Given the description of an element on the screen output the (x, y) to click on. 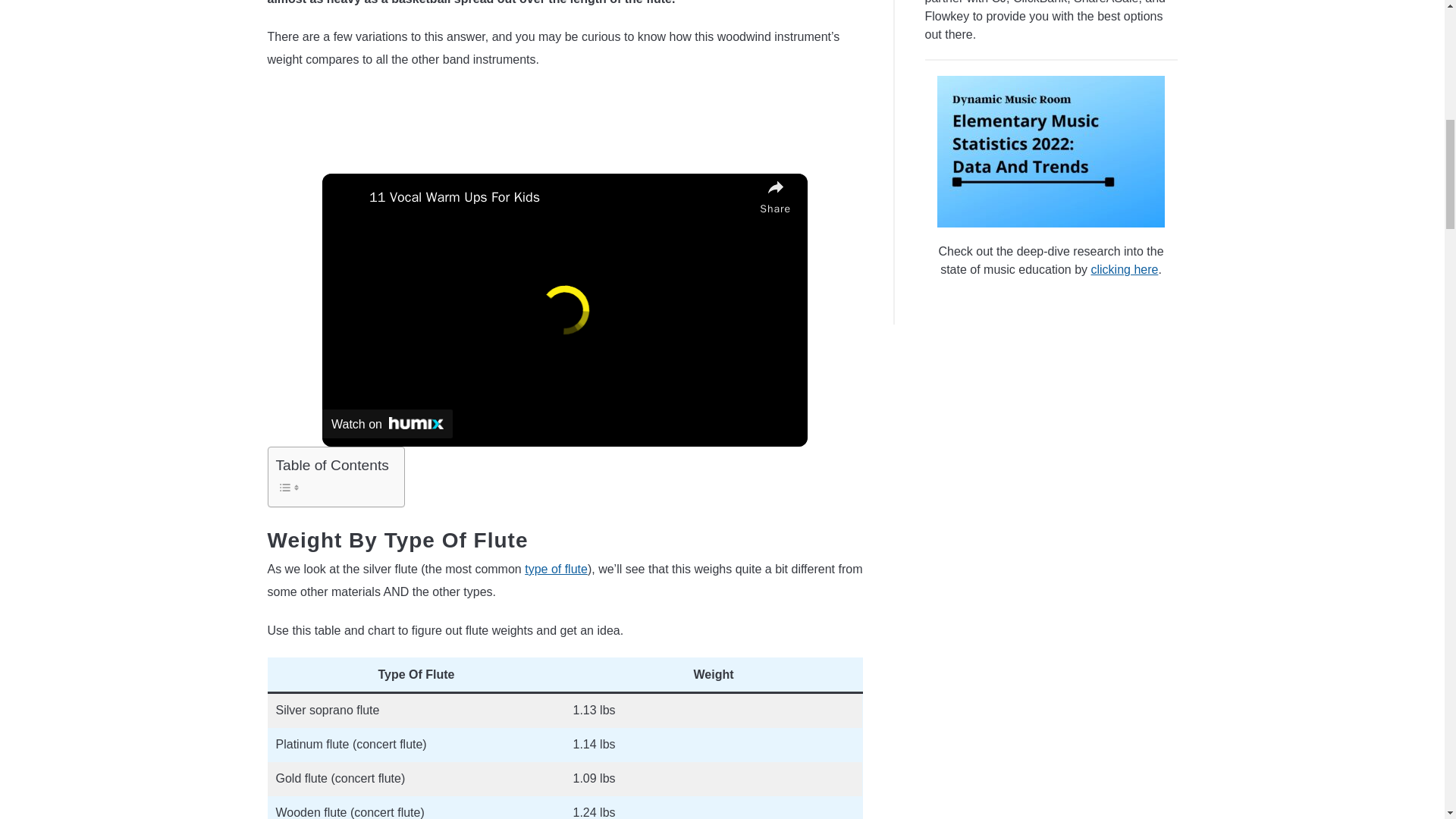
Watch on (386, 423)
11 Vocal Warm Ups For Kids (560, 197)
type of flute (556, 568)
